Given the description of an element on the screen output the (x, y) to click on. 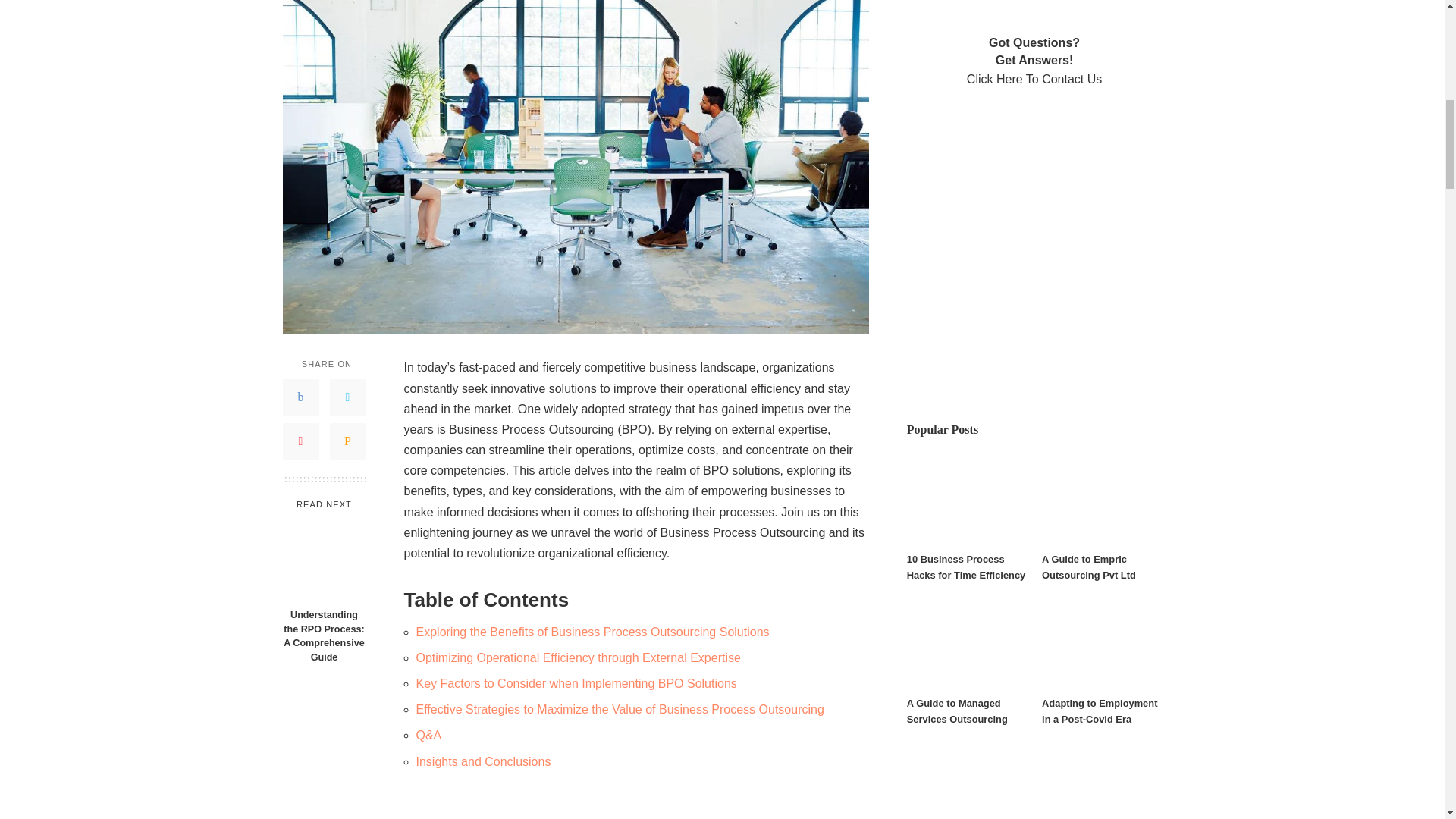
Pinterest (300, 441)
Facebook (300, 397)
Insights and Conclusions (482, 761)
Email (347, 441)
Understanding the RPO Process: A Comprehensive Guide (323, 636)
Twitter (347, 397)
